Given the description of an element on the screen output the (x, y) to click on. 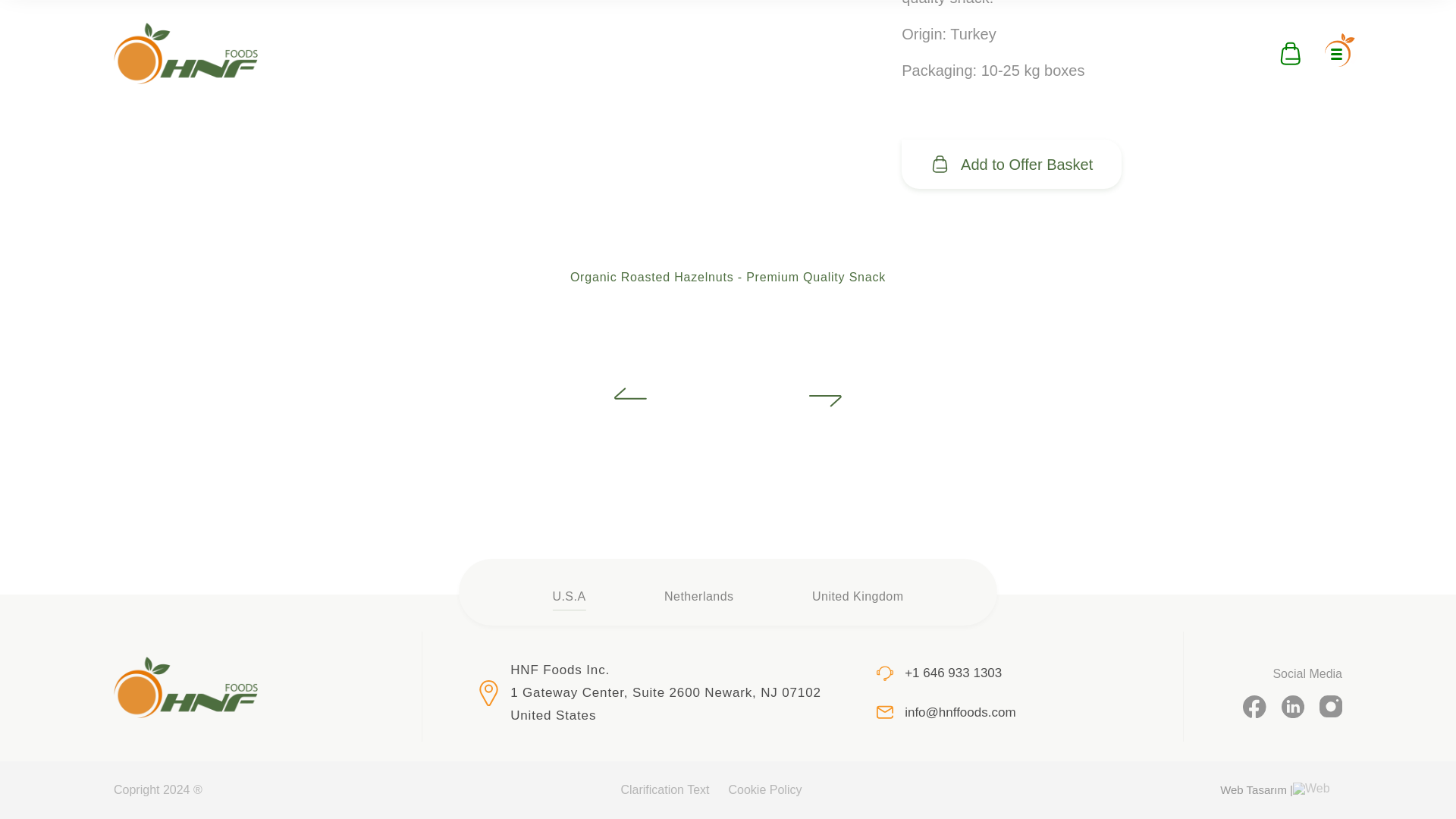
Netherlands (698, 599)
United Kingdom (858, 599)
Clarification Text (664, 789)
Cookie Policy (765, 789)
Add to Offer Basket (1011, 164)
U.S.A (568, 599)
